Given the description of an element on the screen output the (x, y) to click on. 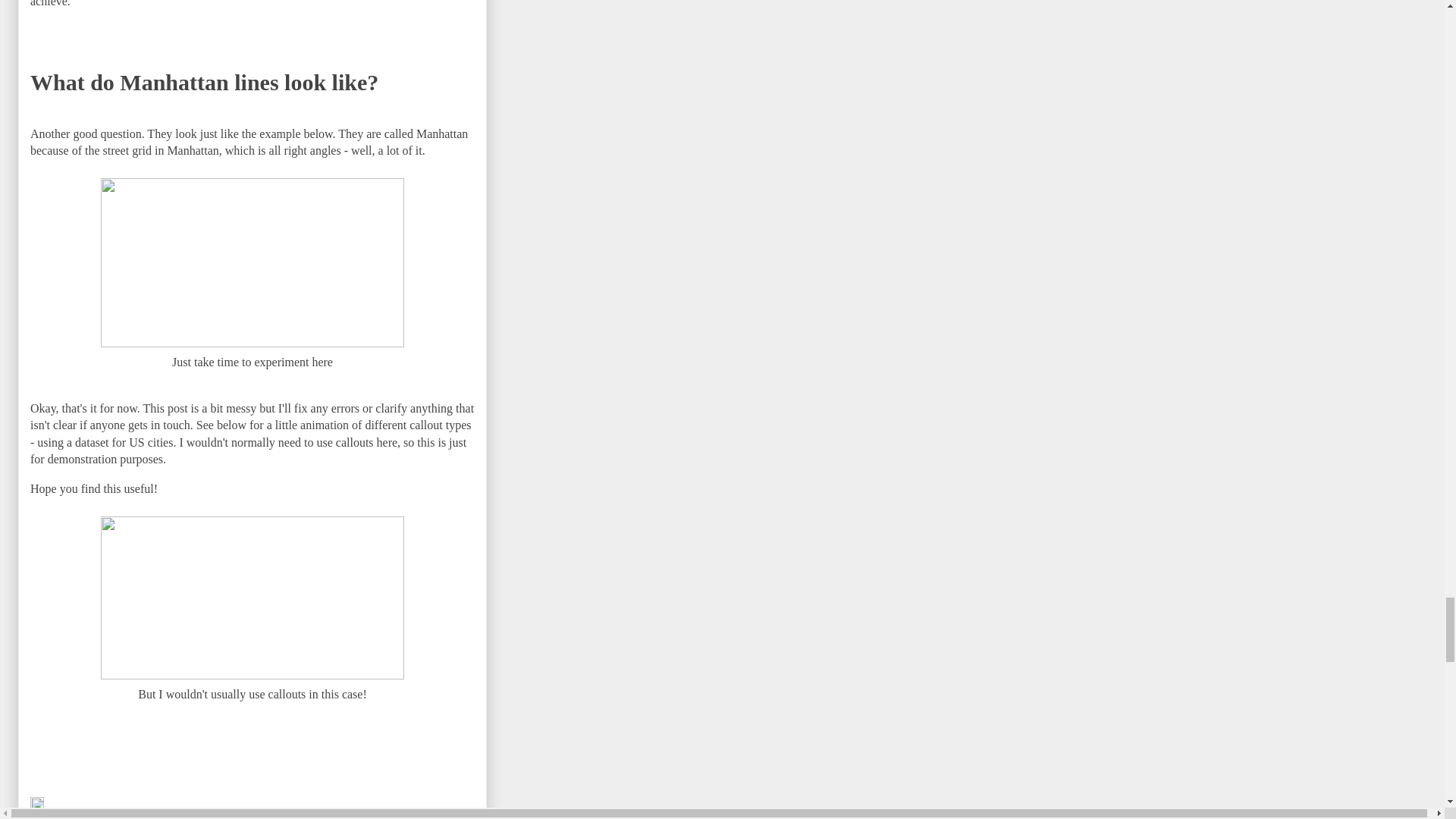
Email This (56, 816)
BlogThis! (107, 816)
BlogThis! (107, 816)
Share to Pinterest (344, 816)
Share to Twitter (171, 816)
Email This (56, 816)
Edit Post (36, 806)
Share to Pinterest (344, 816)
Share to Facebook (256, 816)
Share to Twitter (171, 816)
Share to Facebook (256, 816)
